Given the description of an element on the screen output the (x, y) to click on. 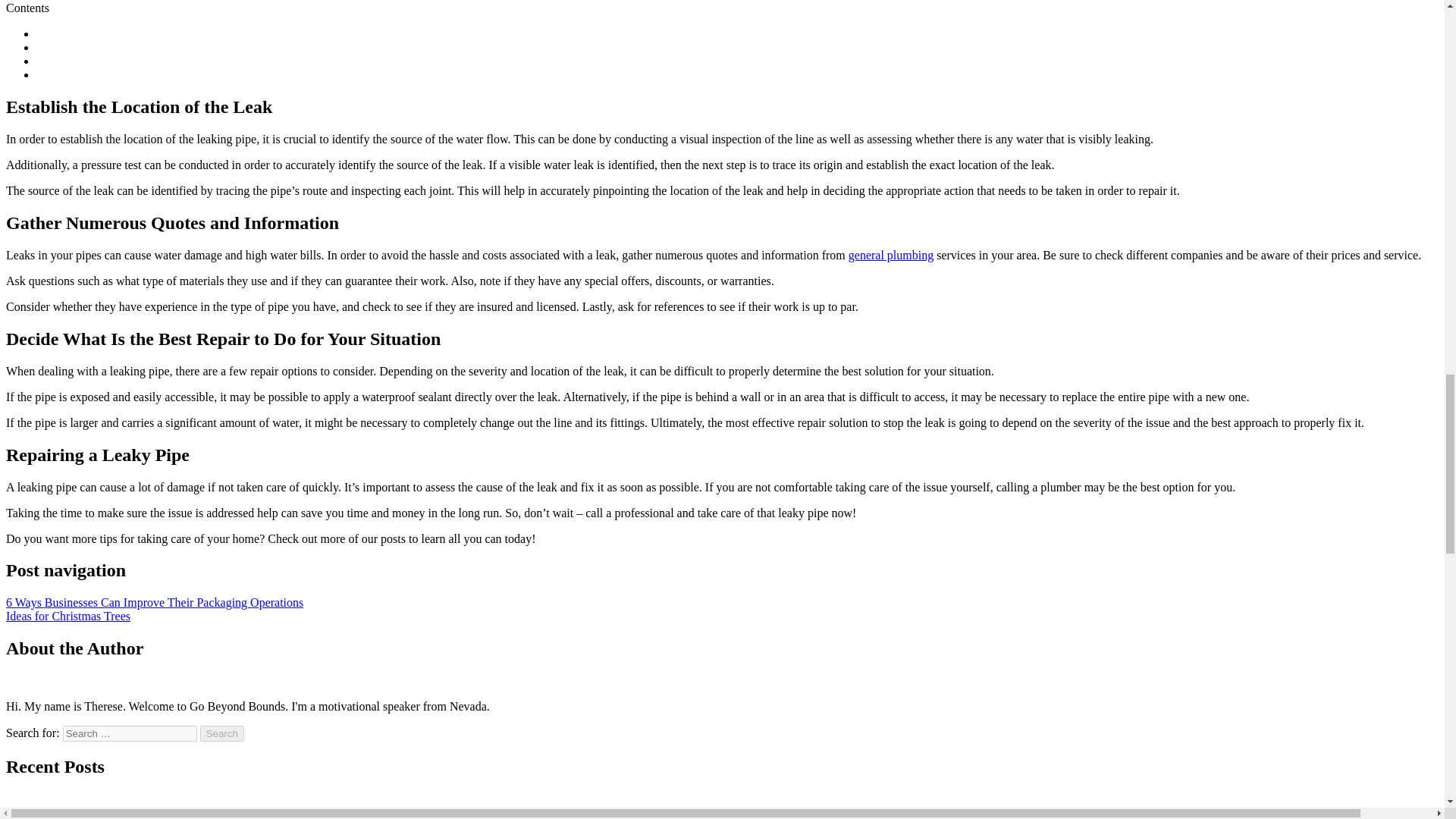
Search (222, 733)
Search (222, 733)
Search (222, 733)
6 Ways Businesses Can Improve Their Packaging Operations (153, 602)
Ideas for Christmas Trees (68, 615)
general plumbing (890, 254)
